Given the description of an element on the screen output the (x, y) to click on. 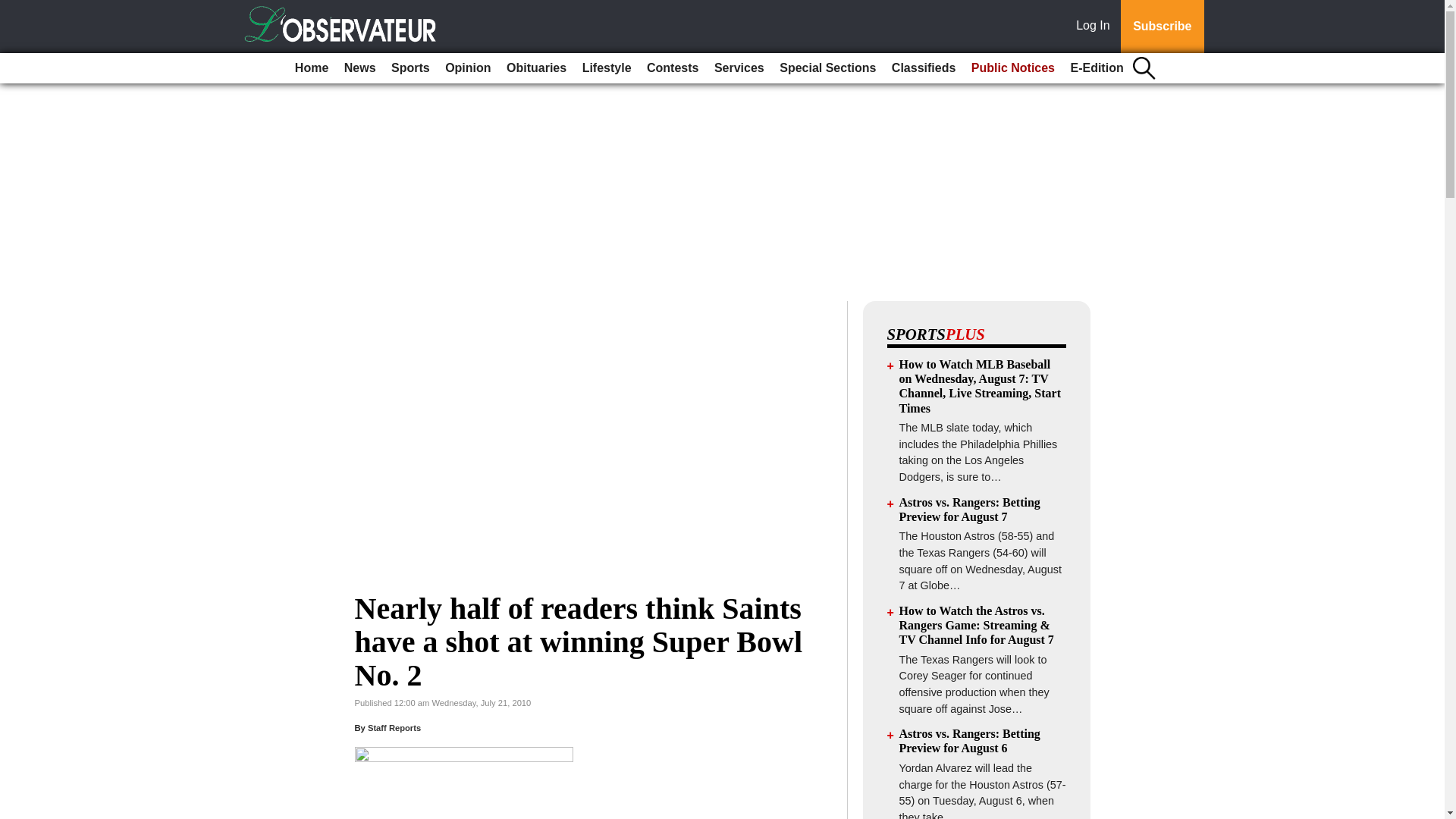
Opinion (467, 68)
Classifieds (922, 68)
Go (13, 9)
E-Edition (1096, 68)
Home (311, 68)
Contests (672, 68)
Public Notices (1013, 68)
Astros vs. Rangers: Betting Preview for August 7 (970, 509)
Services (738, 68)
Obituaries (536, 68)
News (359, 68)
Special Sections (827, 68)
Sports (410, 68)
Subscribe (1162, 26)
